Given the description of an element on the screen output the (x, y) to click on. 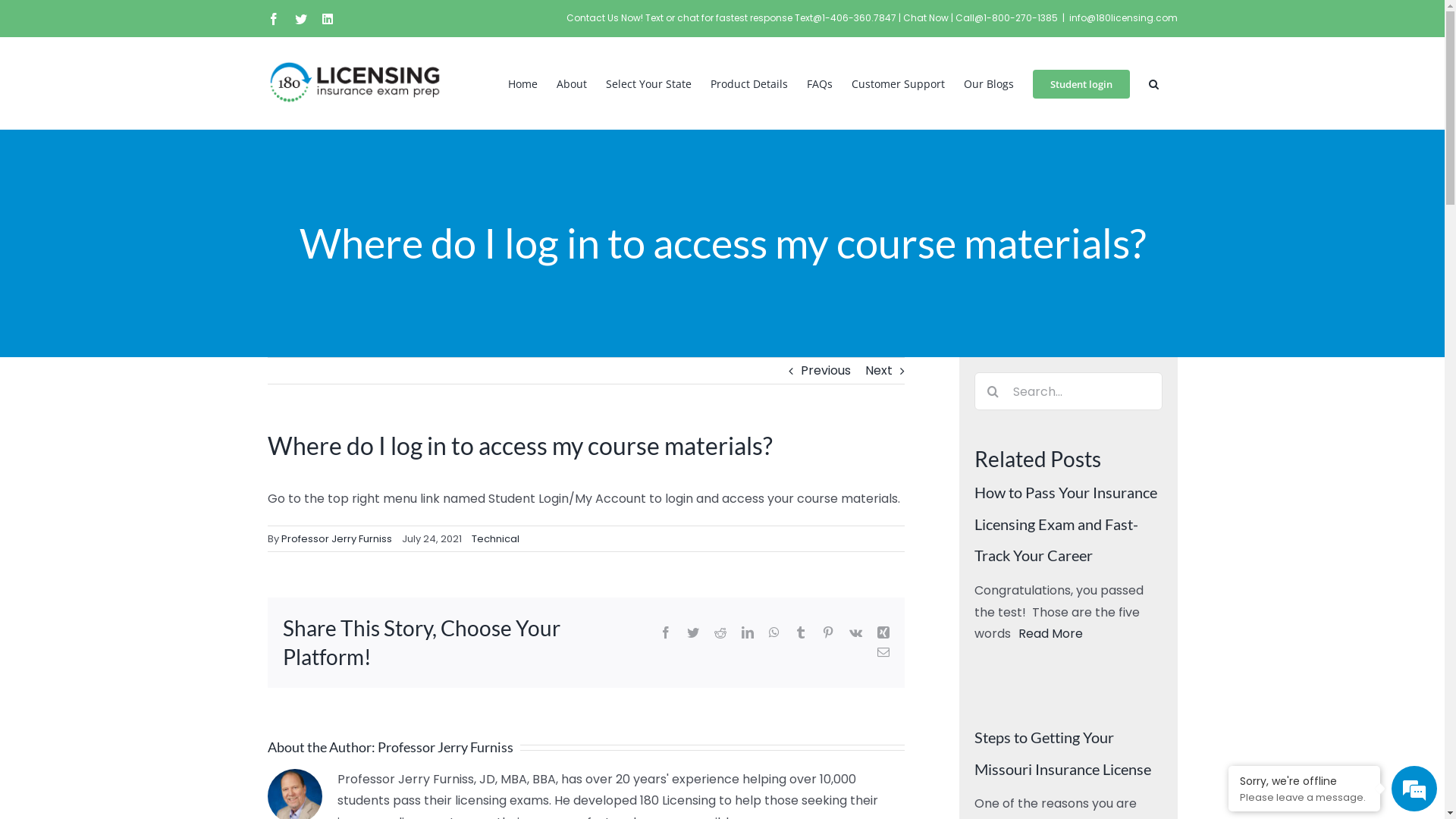
FAQs Element type: text (819, 82)
Steps to Getting Your Missouri Insurance License Element type: text (1061, 753)
Professor Jerry Furniss Element type: text (335, 538)
Customer Support Element type: text (897, 82)
Previous Element type: text (825, 370)
Reddit Element type: text (720, 632)
Student login Element type: text (1080, 82)
WhatsApp Element type: text (773, 632)
Select Your State Element type: text (647, 82)
Twitter Element type: text (693, 632)
Chat Now Element type: text (926, 17)
Facebook Element type: text (272, 18)
About Element type: text (571, 82)
Tumblr Element type: text (800, 632)
Technical Element type: text (495, 538)
Home Element type: text (522, 82)
Email Element type: text (882, 652)
Call@1-800-270-1385 Element type: text (1006, 17)
Our Blogs Element type: text (988, 82)
Text@1-406-360.7847 Element type: text (846, 17)
Next Element type: text (877, 370)
info@180licensing.com Element type: text (1123, 17)
Vk Element type: text (855, 632)
Facebook Element type: text (665, 632)
Pinterest Element type: text (828, 632)
Twitter Element type: text (300, 18)
LinkedIn Element type: text (747, 632)
Read More Element type: text (1049, 633)
Professor Jerry Furniss Element type: text (445, 746)
Product Details Element type: text (748, 82)
Search Element type: hover (1152, 82)
Xing Element type: text (882, 632)
LinkedIn Element type: text (326, 18)
